Given the description of an element on the screen output the (x, y) to click on. 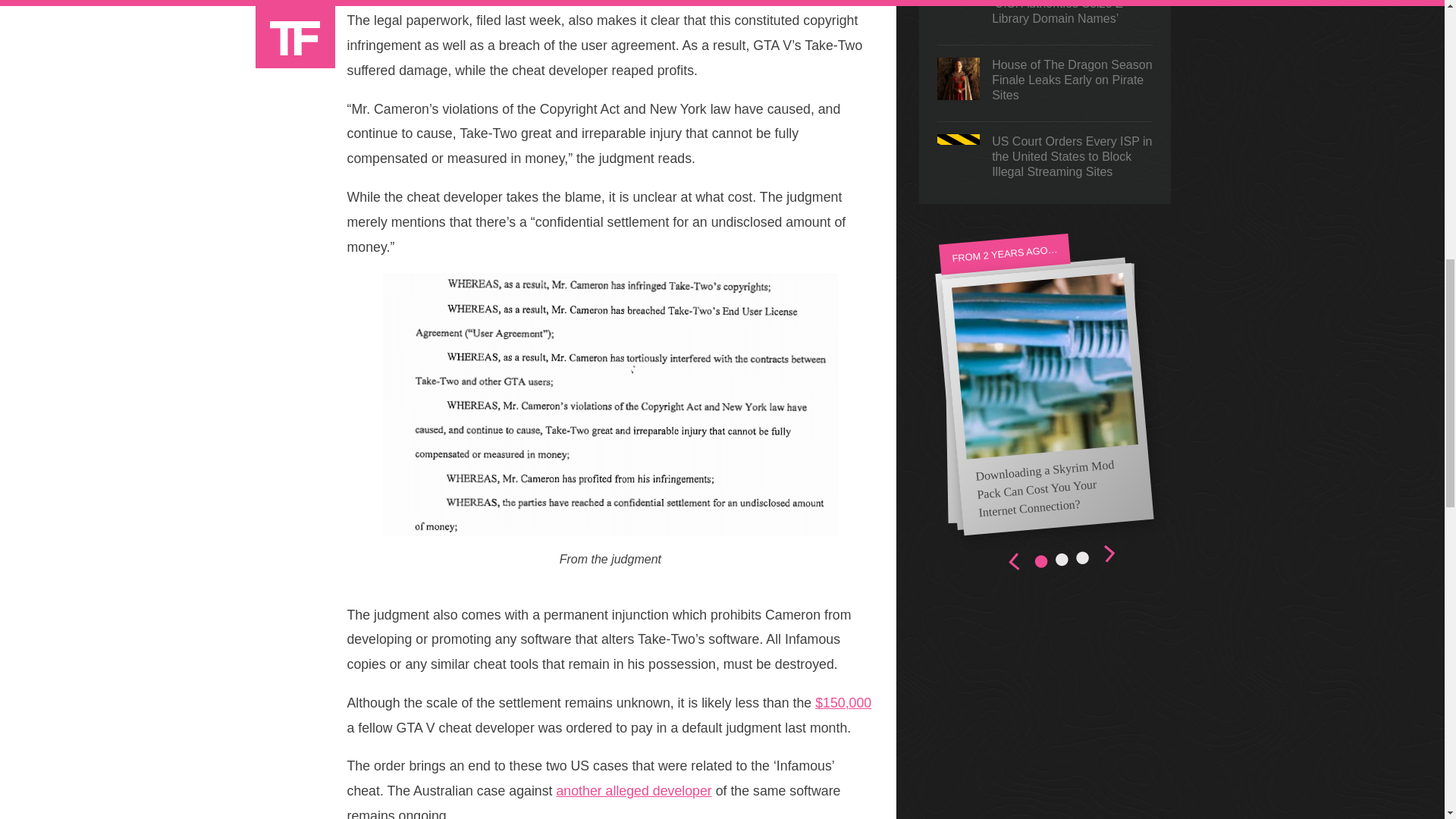
another alleged developer (633, 790)
